Given the description of an element on the screen output the (x, y) to click on. 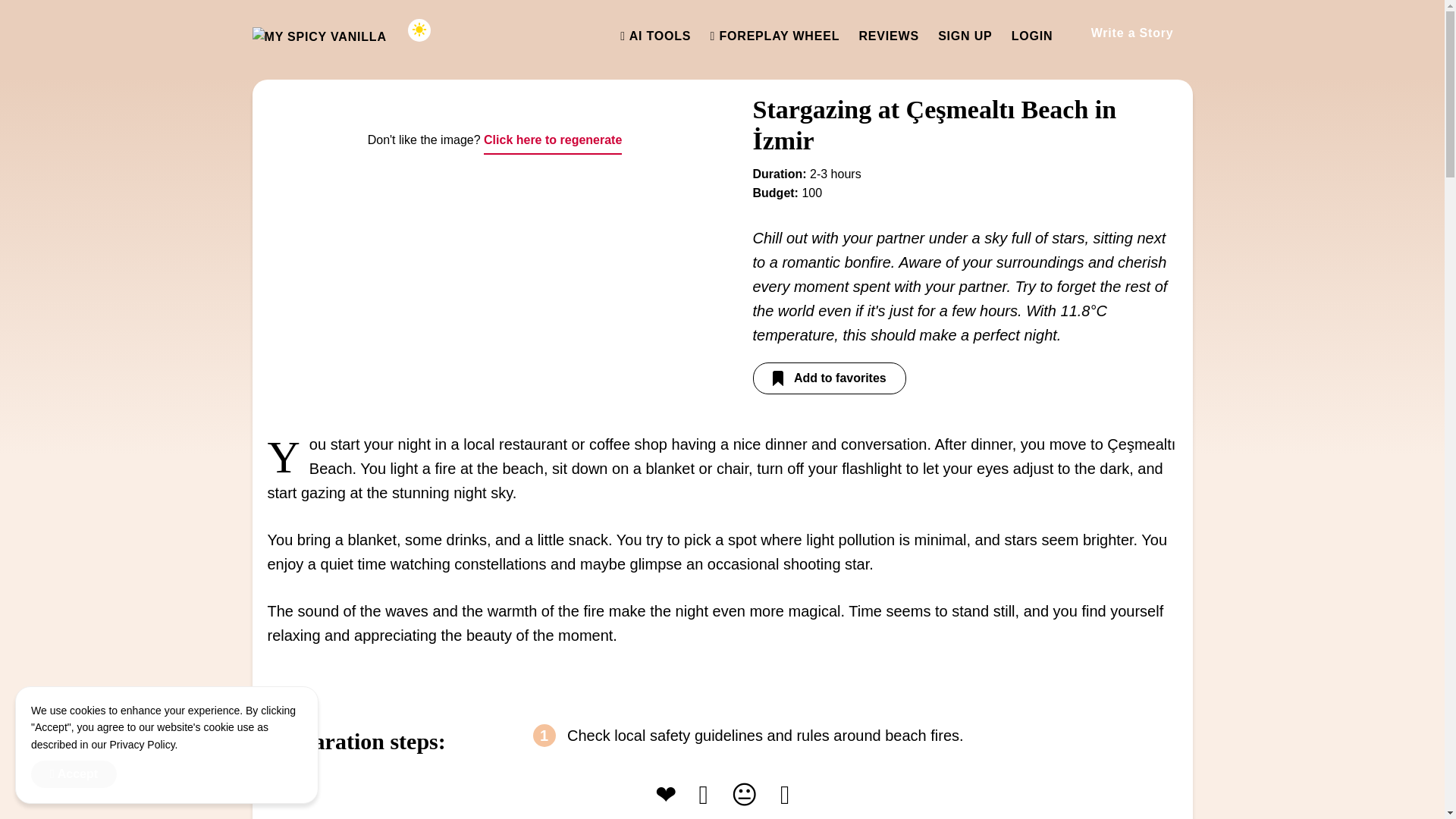
Click here to regenerate (552, 140)
LOGIN (1031, 35)
Write a Story (1131, 32)
Add to favorites (828, 377)
SIGN UP (964, 35)
REVIEWS (888, 35)
